Given the description of an element on the screen output the (x, y) to click on. 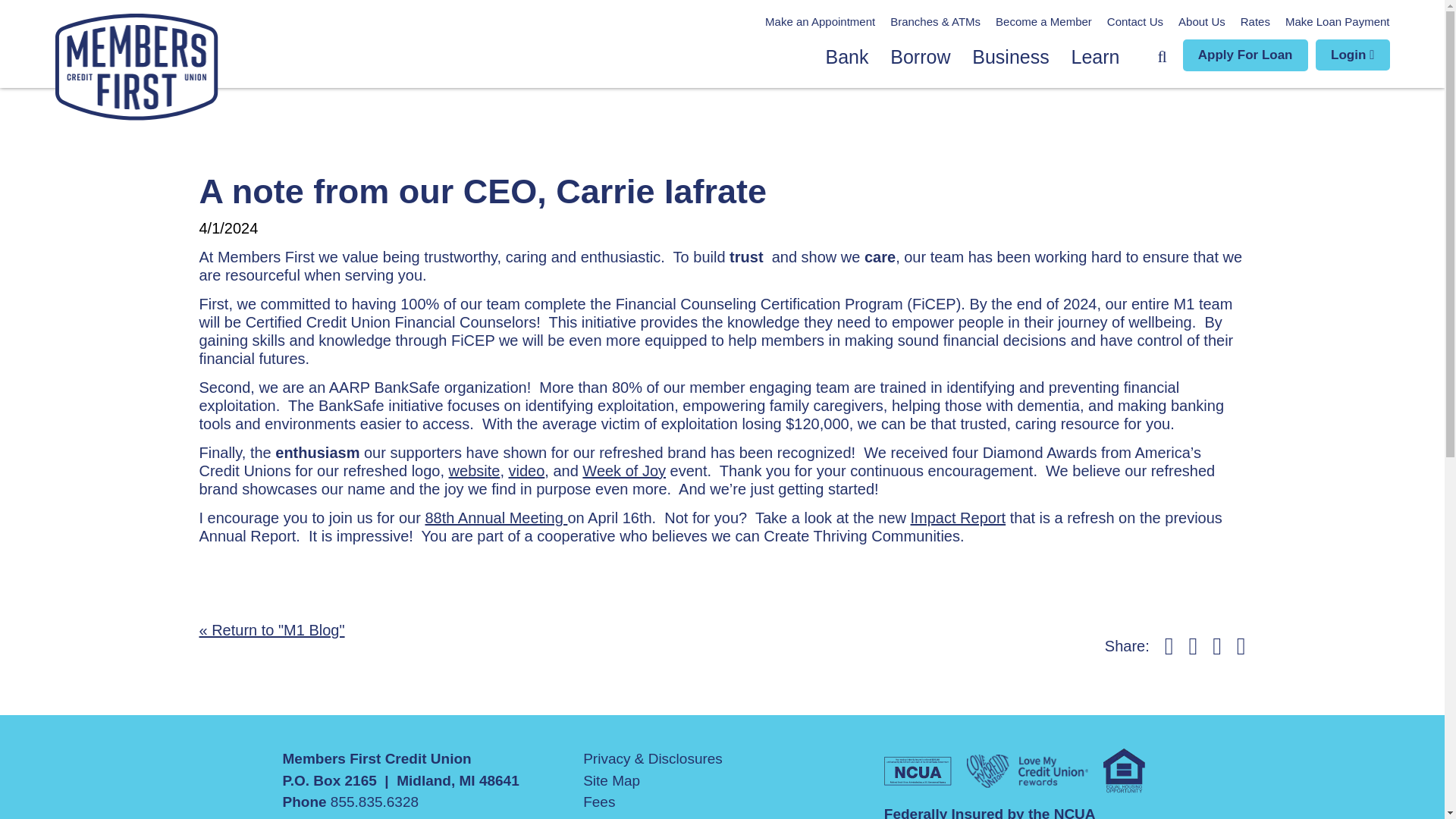
Make Loan Payment (1337, 22)
Apply For Loan (1244, 55)
Rates (1254, 22)
Make an Appointment (820, 22)
Bank (846, 56)
About Us (1201, 22)
Borrow (920, 56)
Become a Member (1043, 22)
Contact Us (1134, 22)
